Given the description of an element on the screen output the (x, y) to click on. 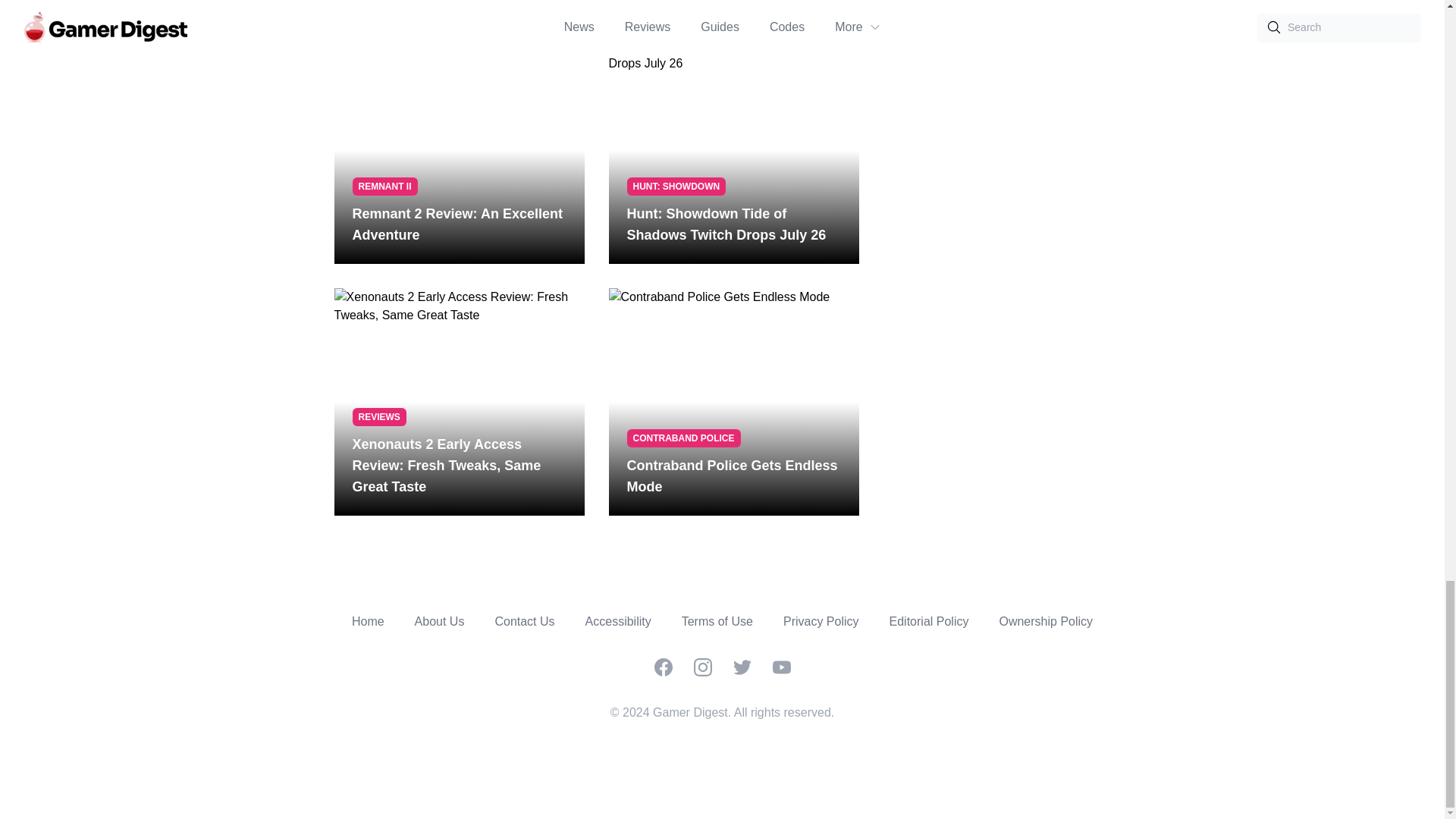
Contraband Police Gets Endless Mode (733, 476)
HUNT: SHOWDOWN (675, 186)
Remnant 2 Review: An Excellent Adventure (459, 224)
REMNANT II (384, 186)
REVIEWS (379, 416)
Home (368, 621)
CONTRABAND POLICE (682, 438)
Hunt: Showdown Tide of Shadows Twitch Drops July 26 (733, 224)
